Given the description of an element on the screen output the (x, y) to click on. 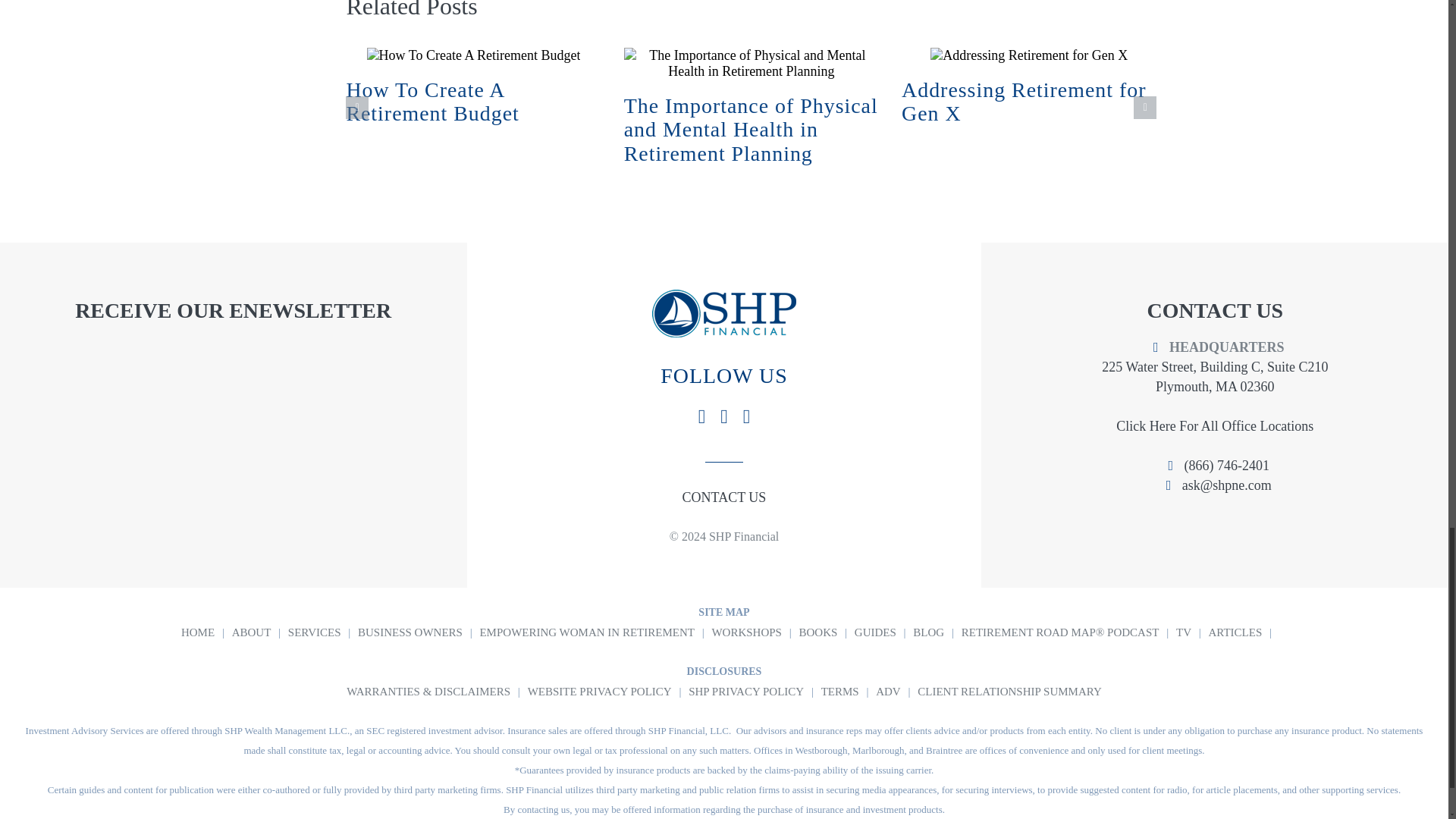
How To Create A Retirement Budget (432, 101)
Addressing Retirement for Gen X (1023, 101)
